Given the description of an element on the screen output the (x, y) to click on. 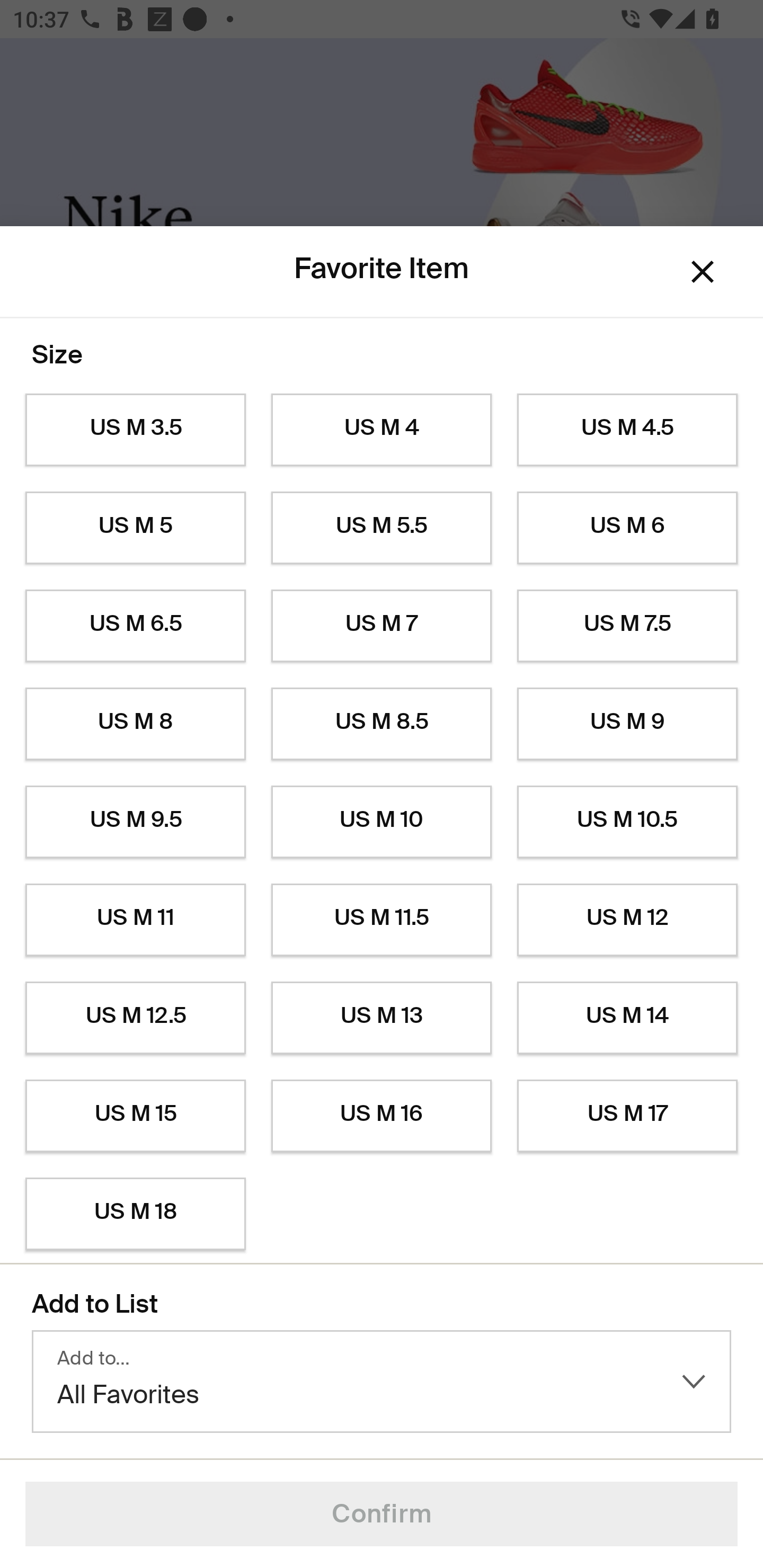
Dismiss (702, 271)
US M 3.5 (135, 430)
US M 4 (381, 430)
US M 4.5 (627, 430)
US M 5 (135, 527)
US M 5.5 (381, 527)
US M 6 (627, 527)
US M 6.5 (135, 626)
US M 7 (381, 626)
US M 7.5 (627, 626)
US M 8 (135, 724)
US M 8.5 (381, 724)
US M 9 (627, 724)
US M 9.5 (135, 822)
US M 10 (381, 822)
US M 10.5 (627, 822)
US M 11 (135, 919)
US M 11.5 (381, 919)
US M 12 (627, 919)
US M 12.5 (135, 1018)
US M 13 (381, 1018)
US M 14 (627, 1018)
US M 15 (135, 1116)
US M 16 (381, 1116)
US M 17 (627, 1116)
US M 18 (135, 1214)
Add to… All Favorites (381, 1381)
Confirm (381, 1513)
